Given the description of an element on the screen output the (x, y) to click on. 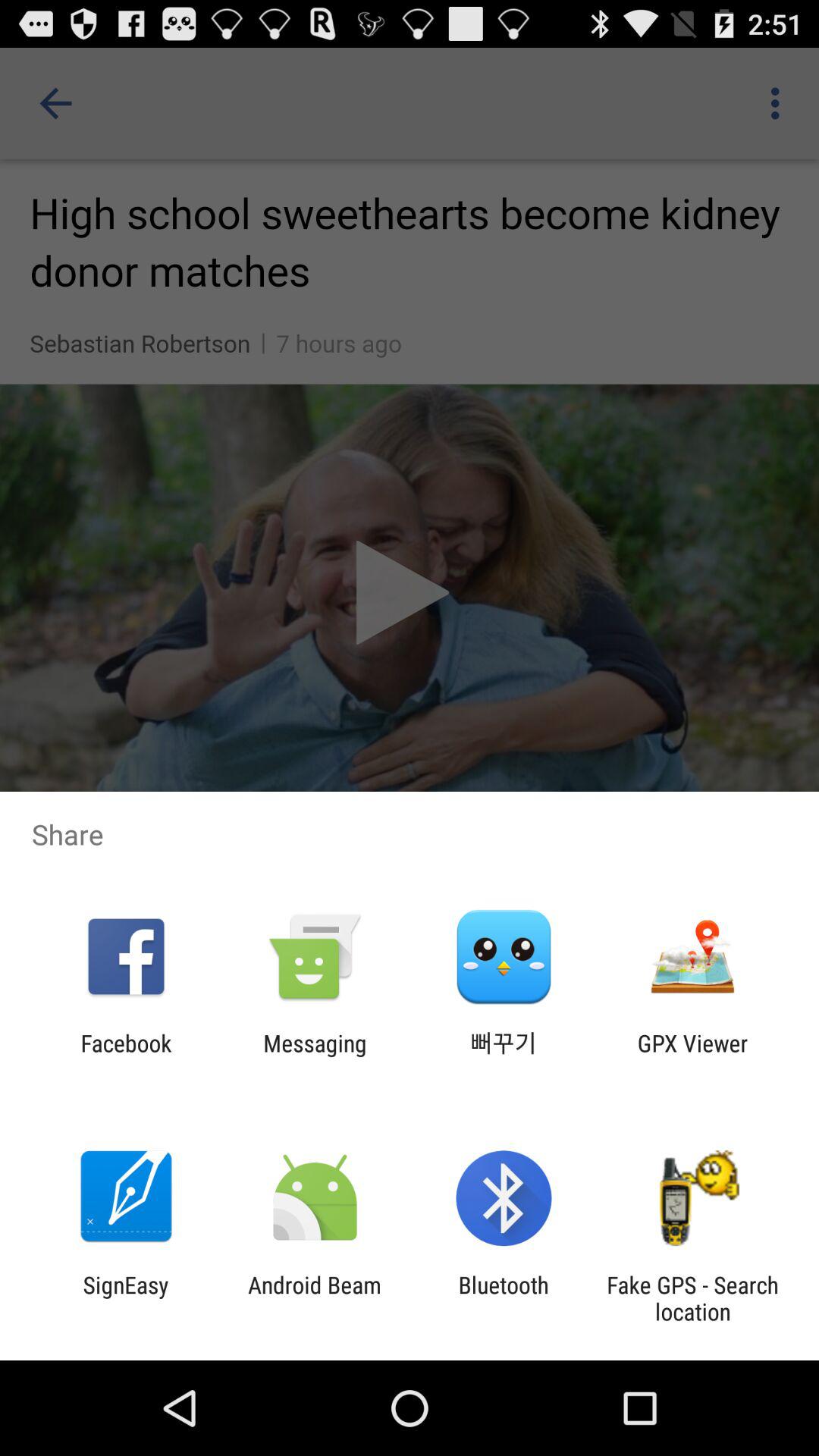
tap item to the right of the messaging icon (503, 1056)
